Given the description of an element on the screen output the (x, y) to click on. 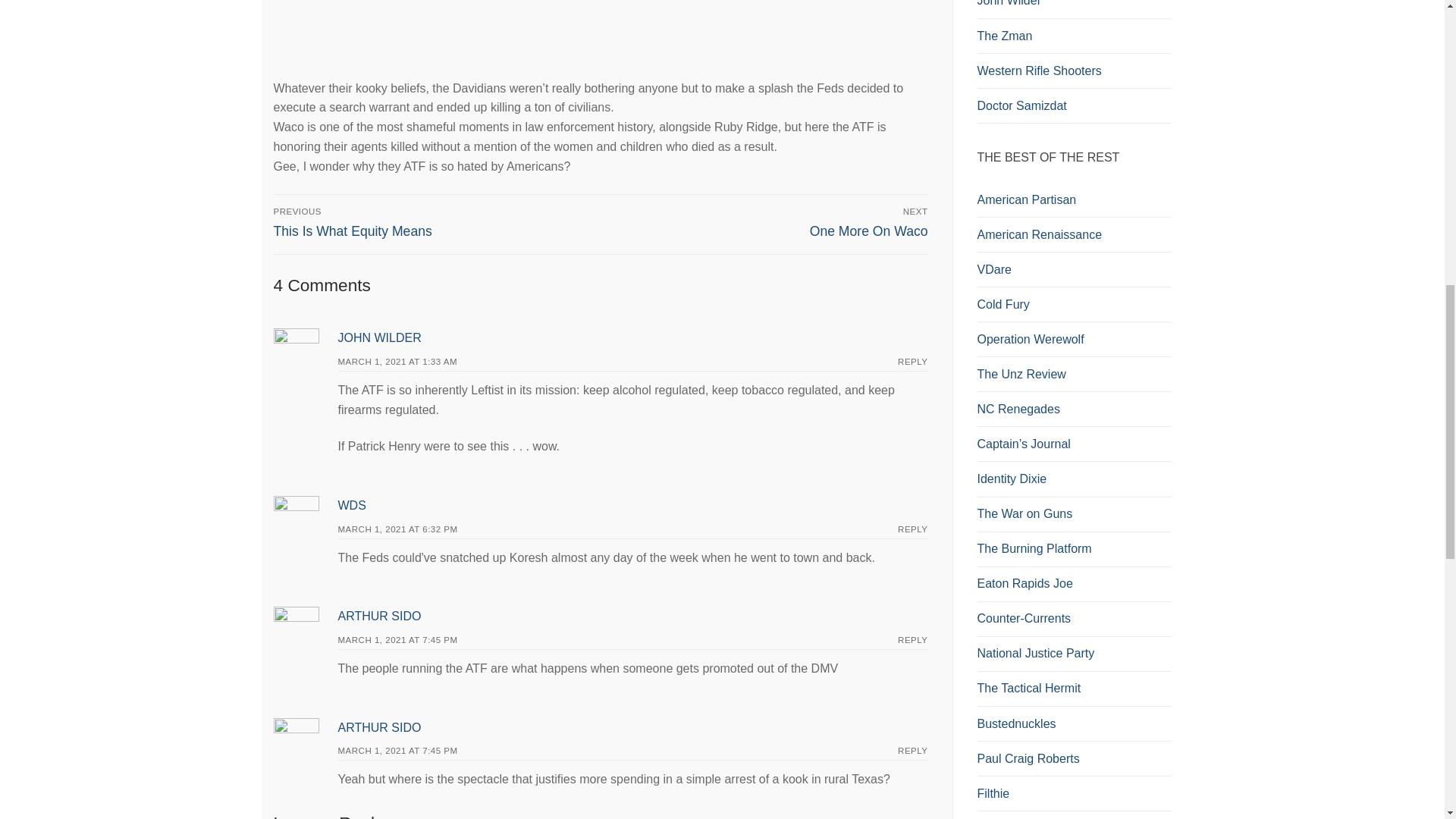
JOHN WILDER (379, 337)
ARTHUR SIDO (767, 223)
MARCH 1, 2021 AT 7:45 PM (379, 615)
ARTHUR SIDO (397, 750)
MARCH 1, 2021 AT 1:33 AM (379, 727)
WDS (397, 361)
REPLY (351, 504)
MARCH 1, 2021 AT 7:45 PM (912, 639)
REPLY (433, 223)
MARCH 1, 2021 AT 6:32 PM (397, 639)
REPLY (912, 750)
REPLY (397, 528)
